Given the description of an element on the screen output the (x, y) to click on. 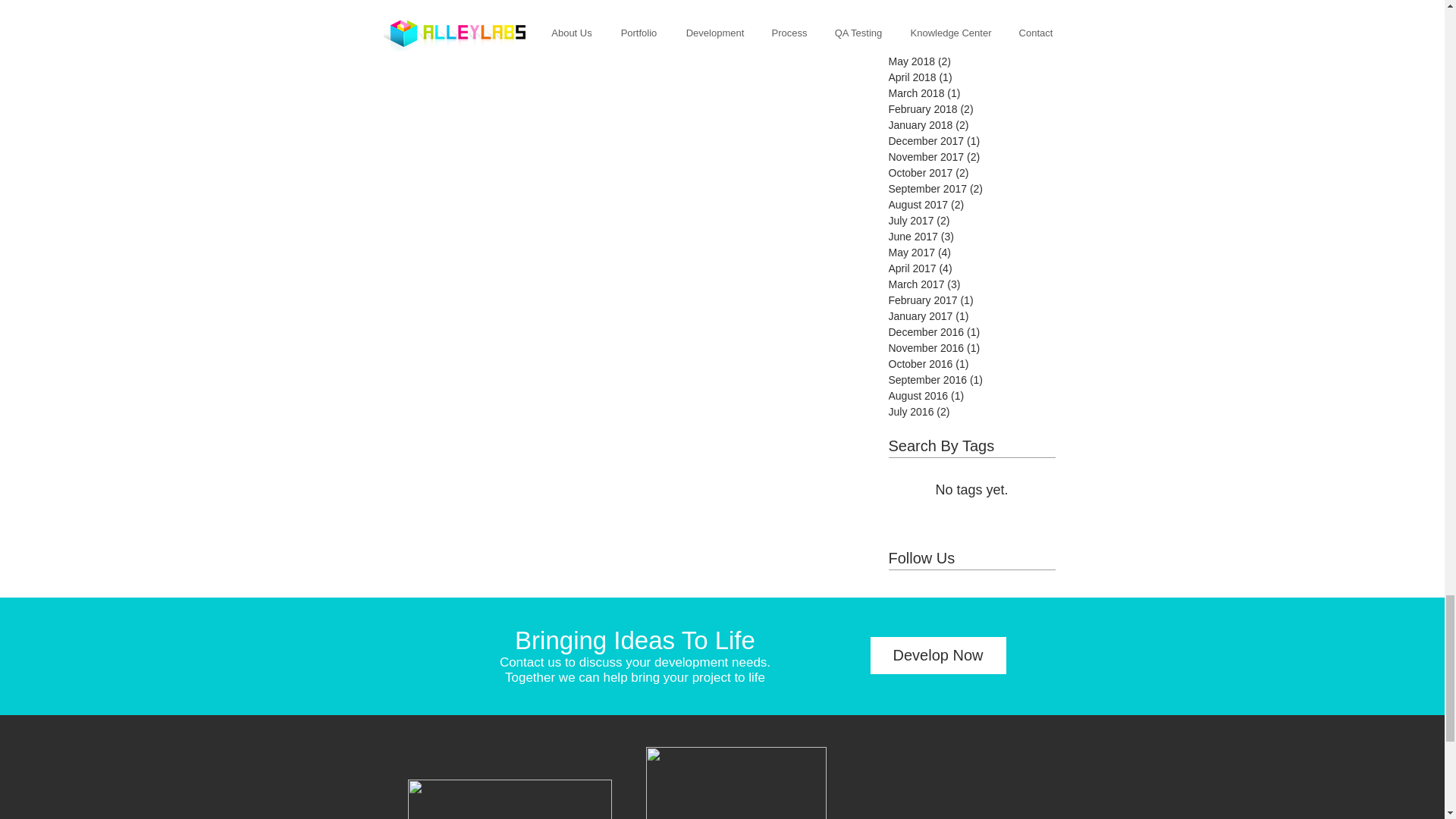
Vietnam Map 2.png (736, 782)
alleylabs logo 2016 W S.png (509, 799)
